Given the description of an element on the screen output the (x, y) to click on. 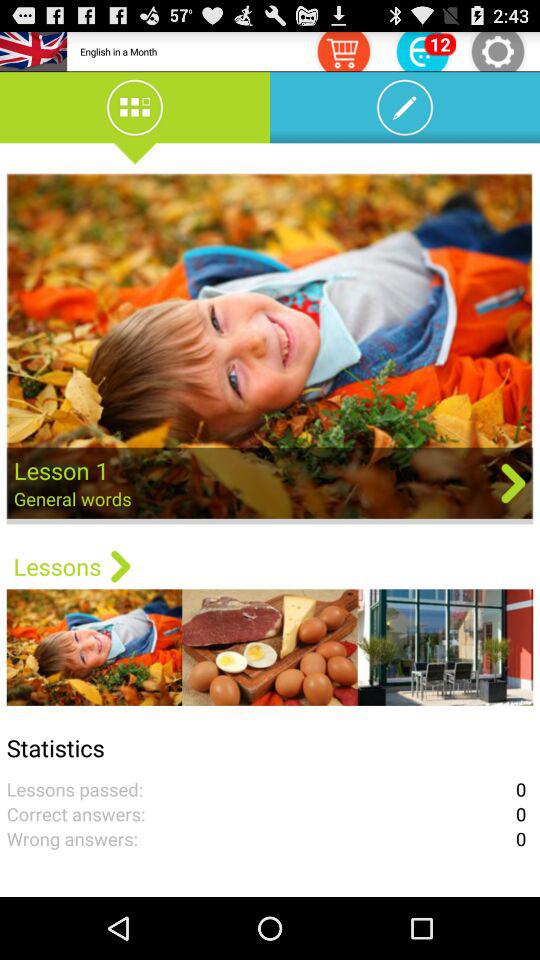
go to advertisement (423, 50)
